Given the description of an element on the screen output the (x, y) to click on. 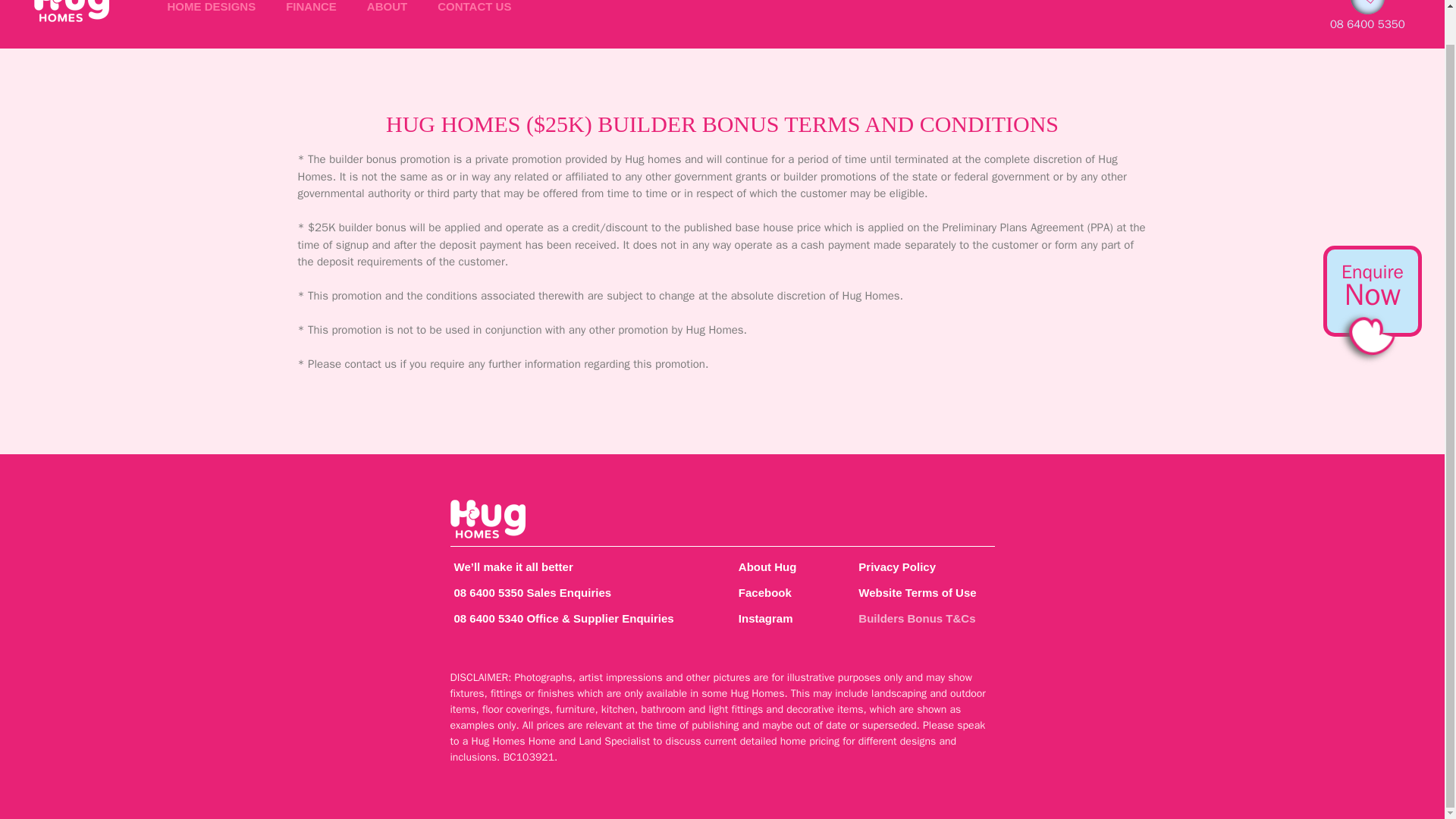
Instagram (783, 618)
logo-hughomes.png (71, 11)
ABOUT (387, 11)
logo-hughomes.png (487, 518)
Website Terms of Use (923, 592)
FINANCE (311, 11)
Privacy Policy (923, 566)
HOME DESIGNS (210, 11)
08 6400 5350 Sales Enquiries (580, 592)
CONTACT US (473, 11)
Enquire Now (1372, 249)
Facebook (783, 592)
About Hug (783, 566)
08 6400 5350 (1367, 24)
